Given the description of an element on the screen output the (x, y) to click on. 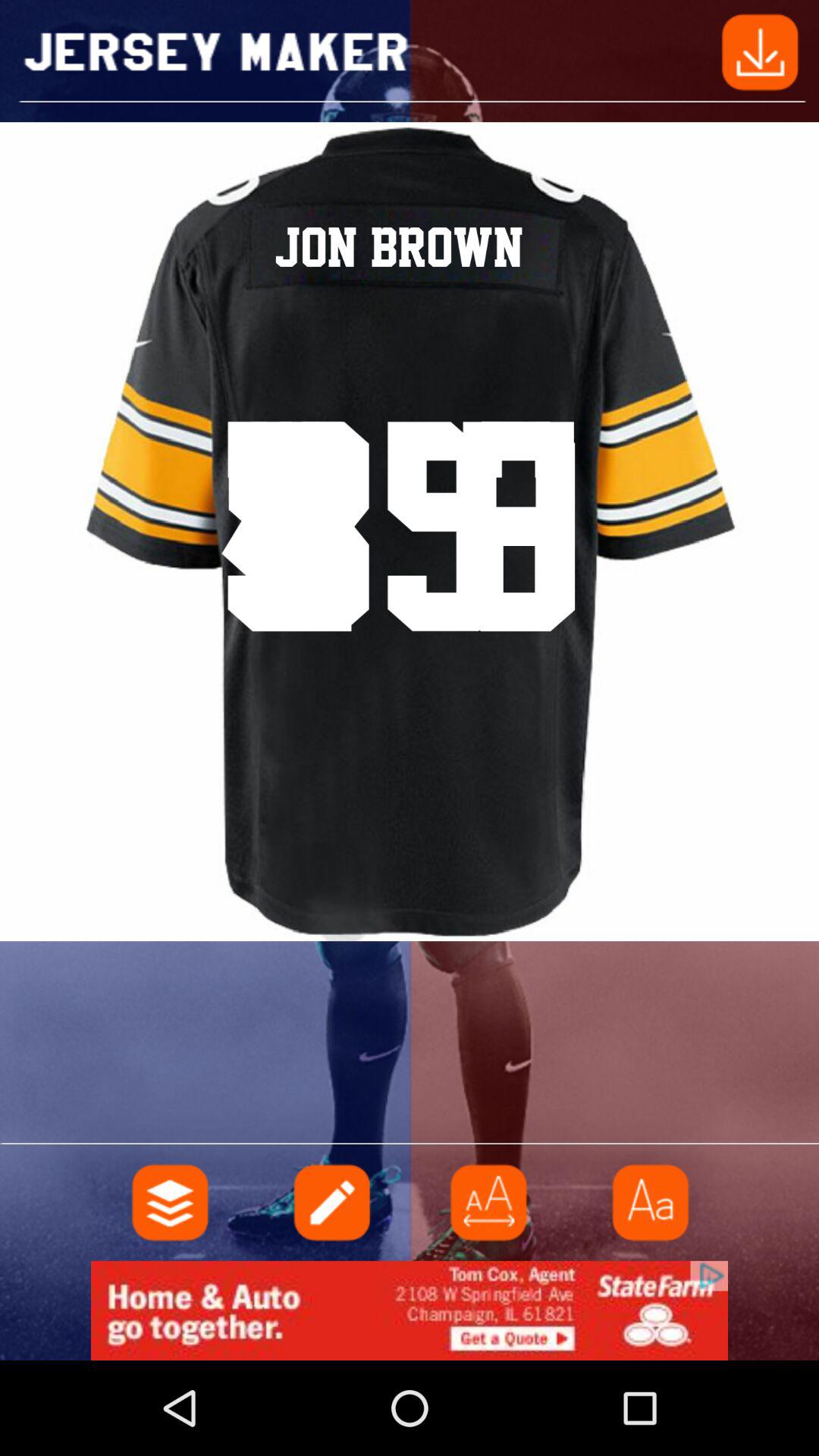
make font bigger (488, 1202)
